Given the description of an element on the screen output the (x, y) to click on. 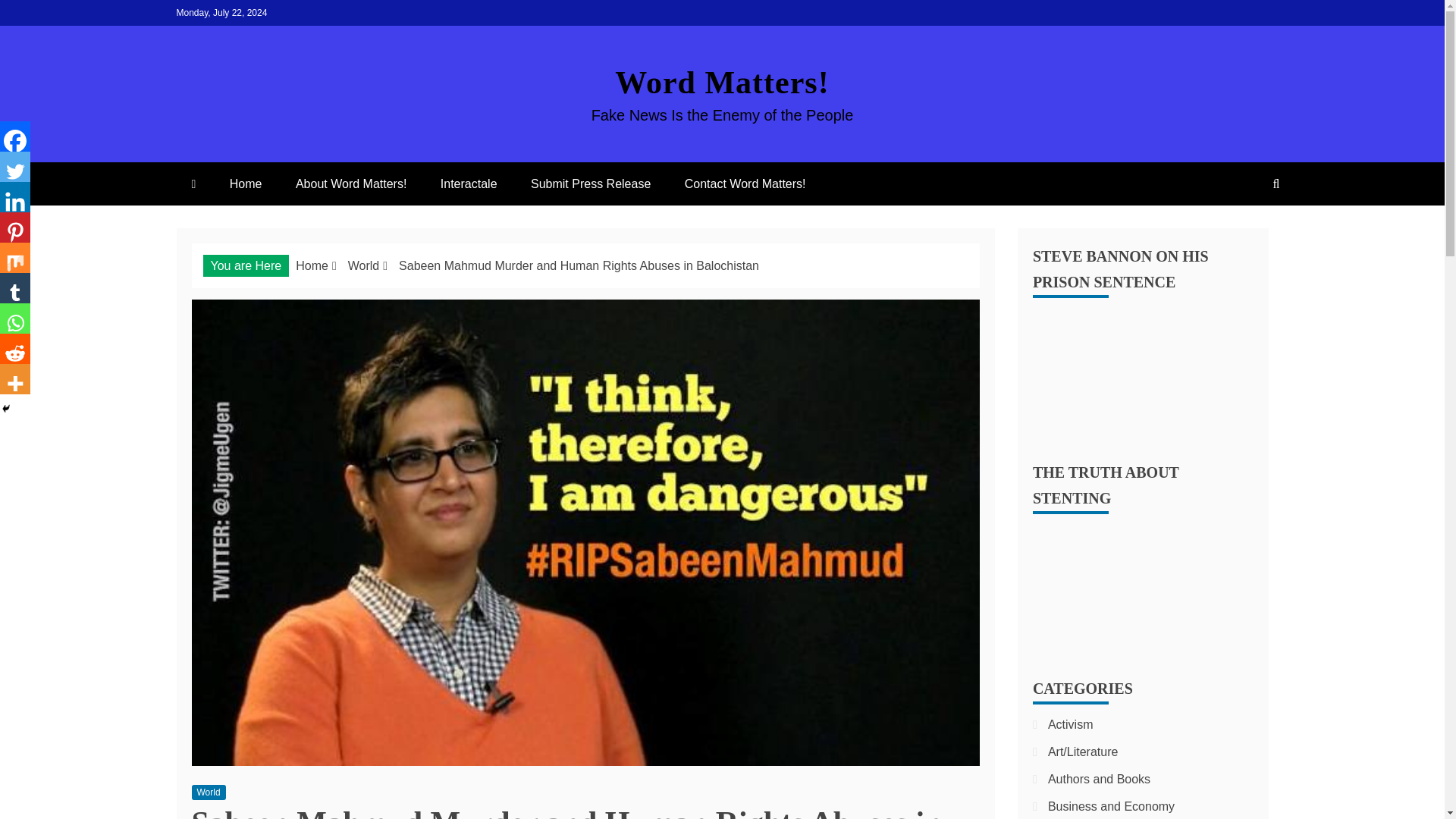
World (207, 792)
Twitter (15, 166)
Interactale (468, 183)
Submit Press Release (590, 183)
Facebook (15, 136)
About Word Matters! (351, 183)
Contact Word Matters! (745, 183)
World (363, 265)
Home (246, 183)
Linkedin (15, 196)
Home (312, 265)
Word Matters! (721, 82)
